Given the description of an element on the screen output the (x, y) to click on. 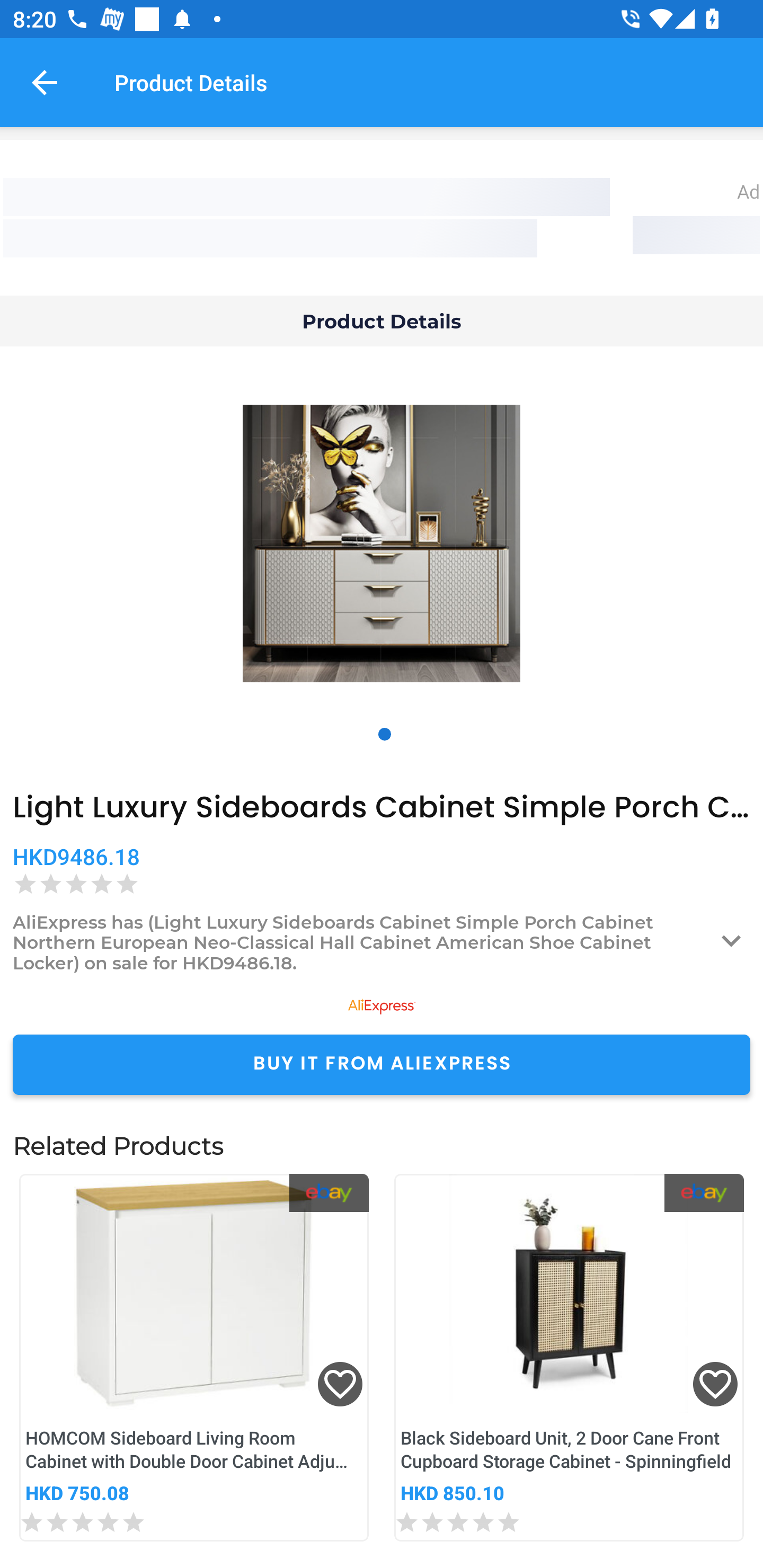
Navigate up (44, 82)
BUY IT FROM ALIEXPRESS (381, 1064)
